Given the description of an element on the screen output the (x, y) to click on. 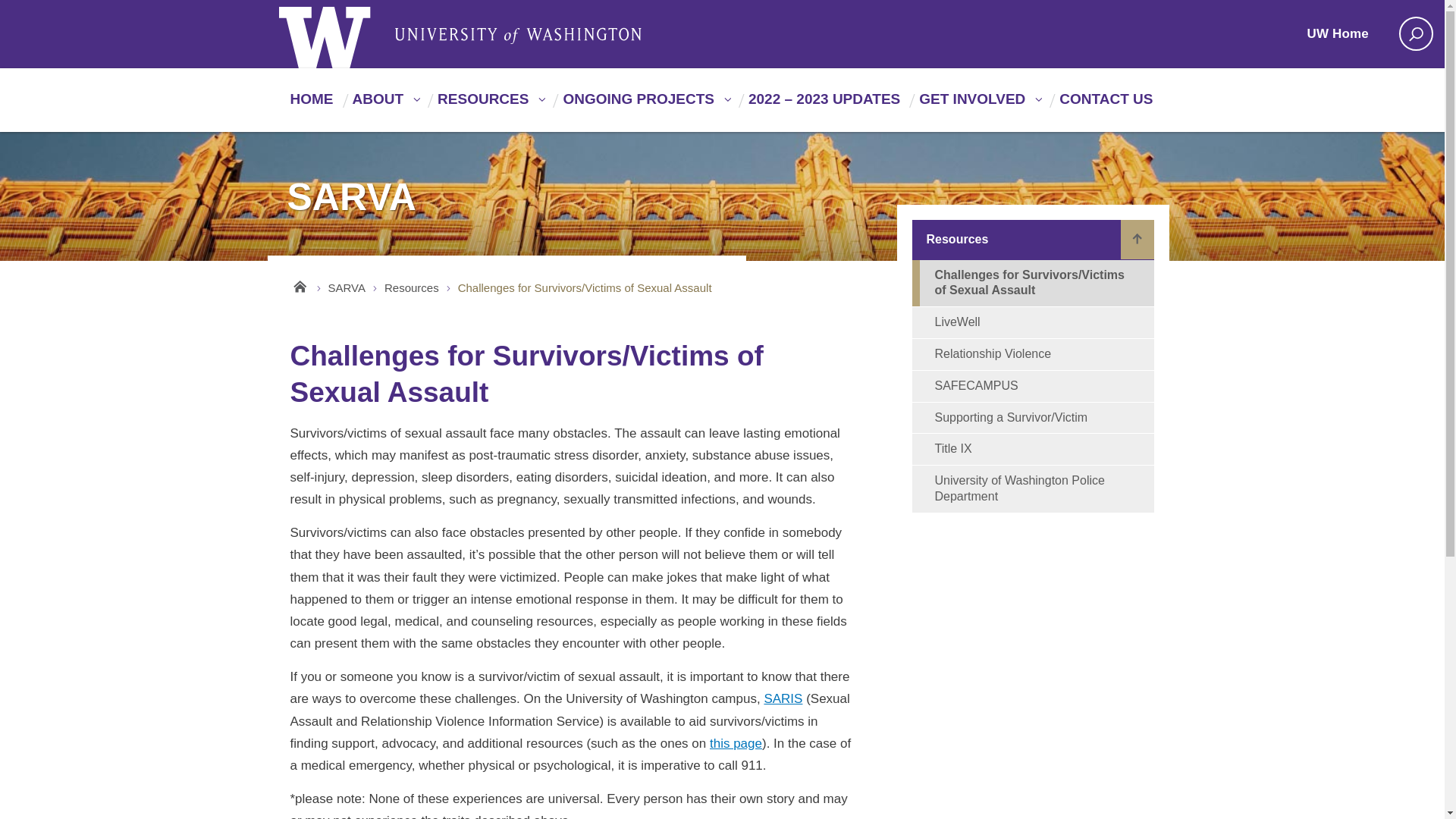
ONGOING PROJECTS (643, 105)
About (383, 105)
GET INVOLVED (977, 105)
UW Home (1347, 34)
RESOURCES (488, 105)
ASUW (341, 33)
Resources (488, 105)
ASUW Home (341, 33)
ABOUT (383, 105)
HOME (309, 105)
ASUW Home (518, 34)
CONTACT US (1104, 105)
Home (309, 105)
UW home (1347, 34)
Associated Students of the University of Washington (518, 34)
